Given the description of an element on the screen output the (x, y) to click on. 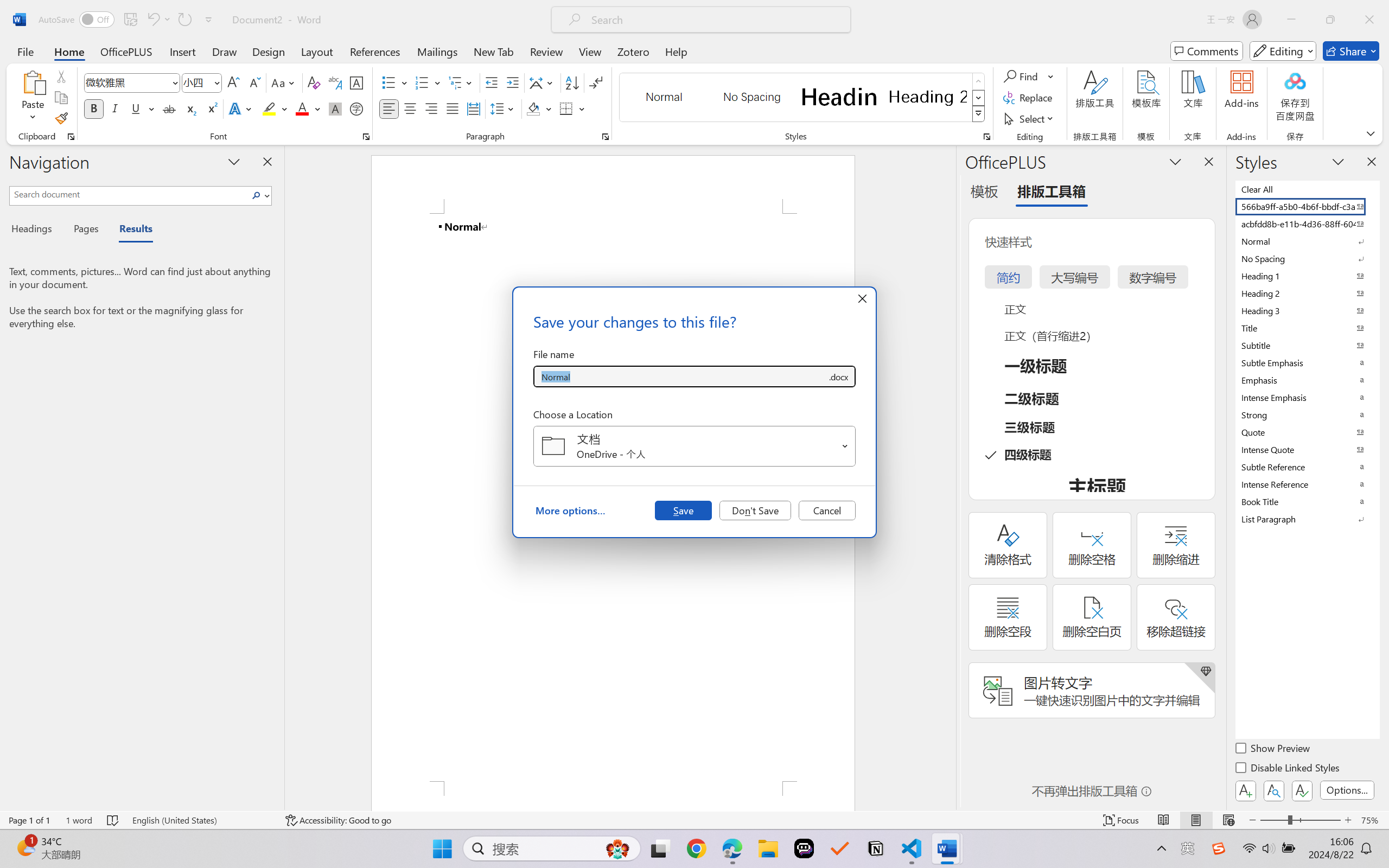
Italic (115, 108)
Zoom (1300, 819)
Ribbon Display Options (1370, 132)
Font (126, 82)
Mailings (437, 51)
List Paragraph (1306, 518)
Row Down (978, 97)
Borders (571, 108)
Justify (452, 108)
566ba9ff-a5b0-4b6f-bbdf-c3ab41993fc2 (1306, 206)
Search (256, 195)
